Given the description of an element on the screen output the (x, y) to click on. 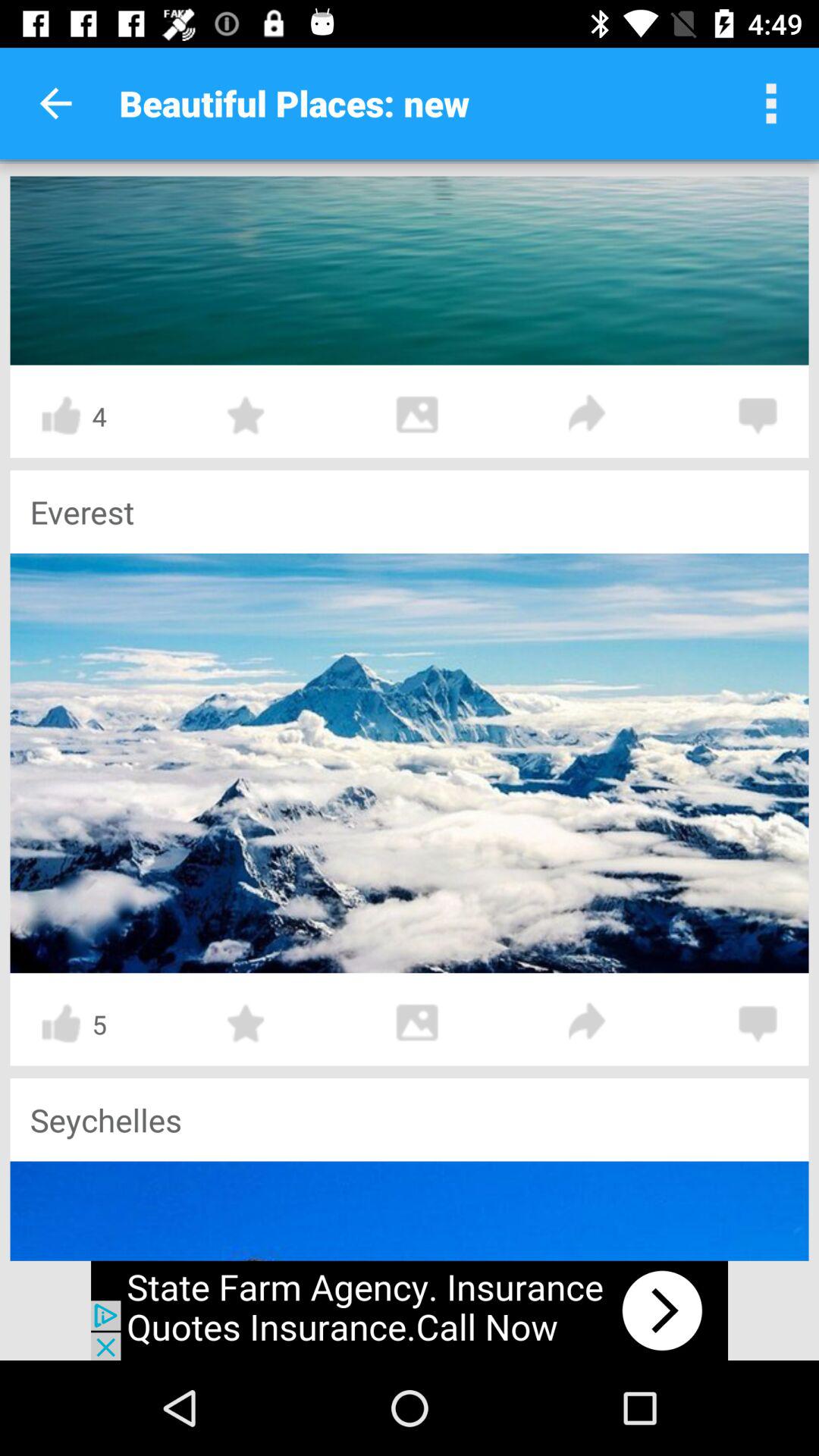
thumbs up (61, 415)
